Given the description of an element on the screen output the (x, y) to click on. 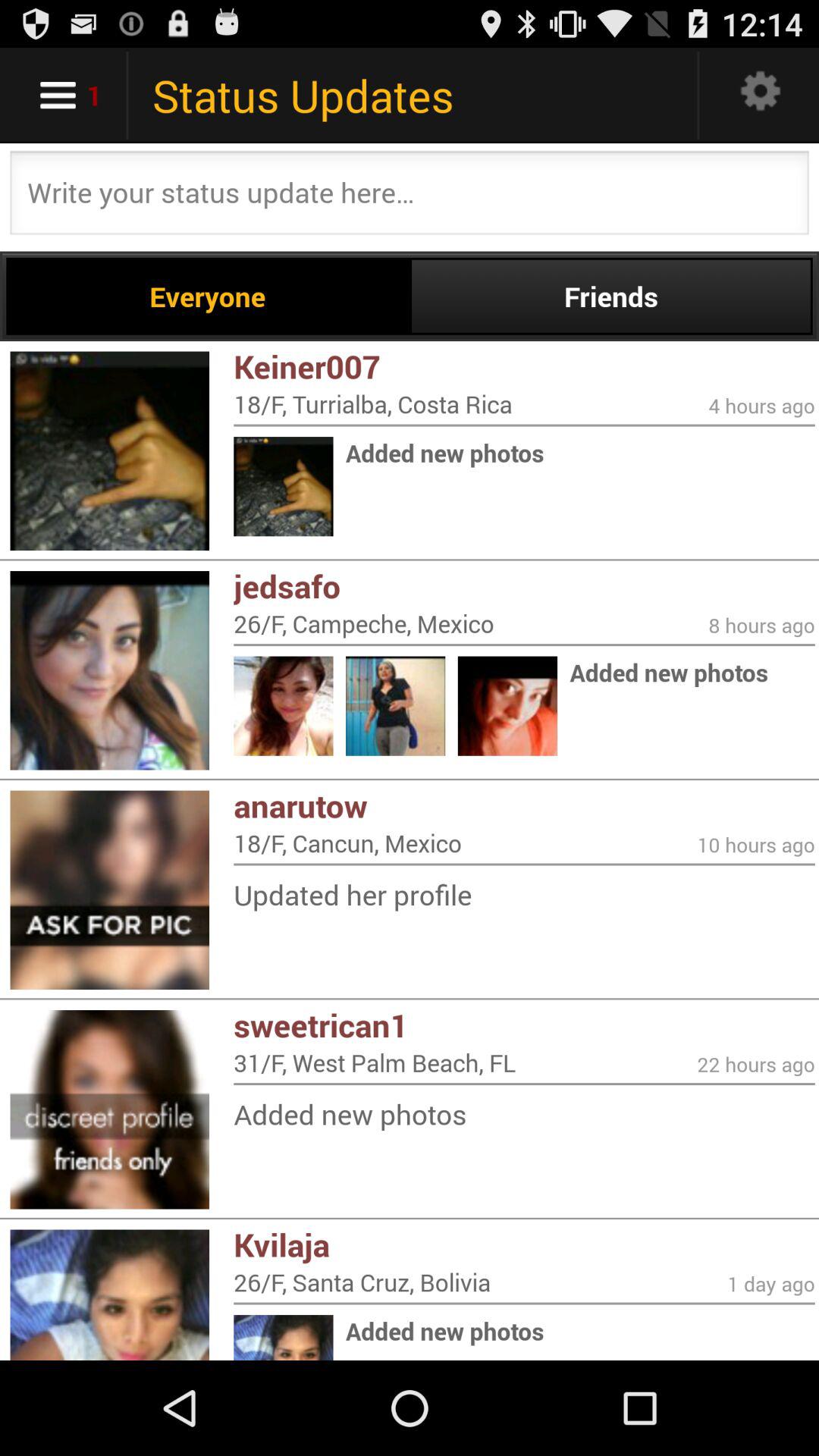
turn on item above the keiner007 app (610, 295)
